Given the description of an element on the screen output the (x, y) to click on. 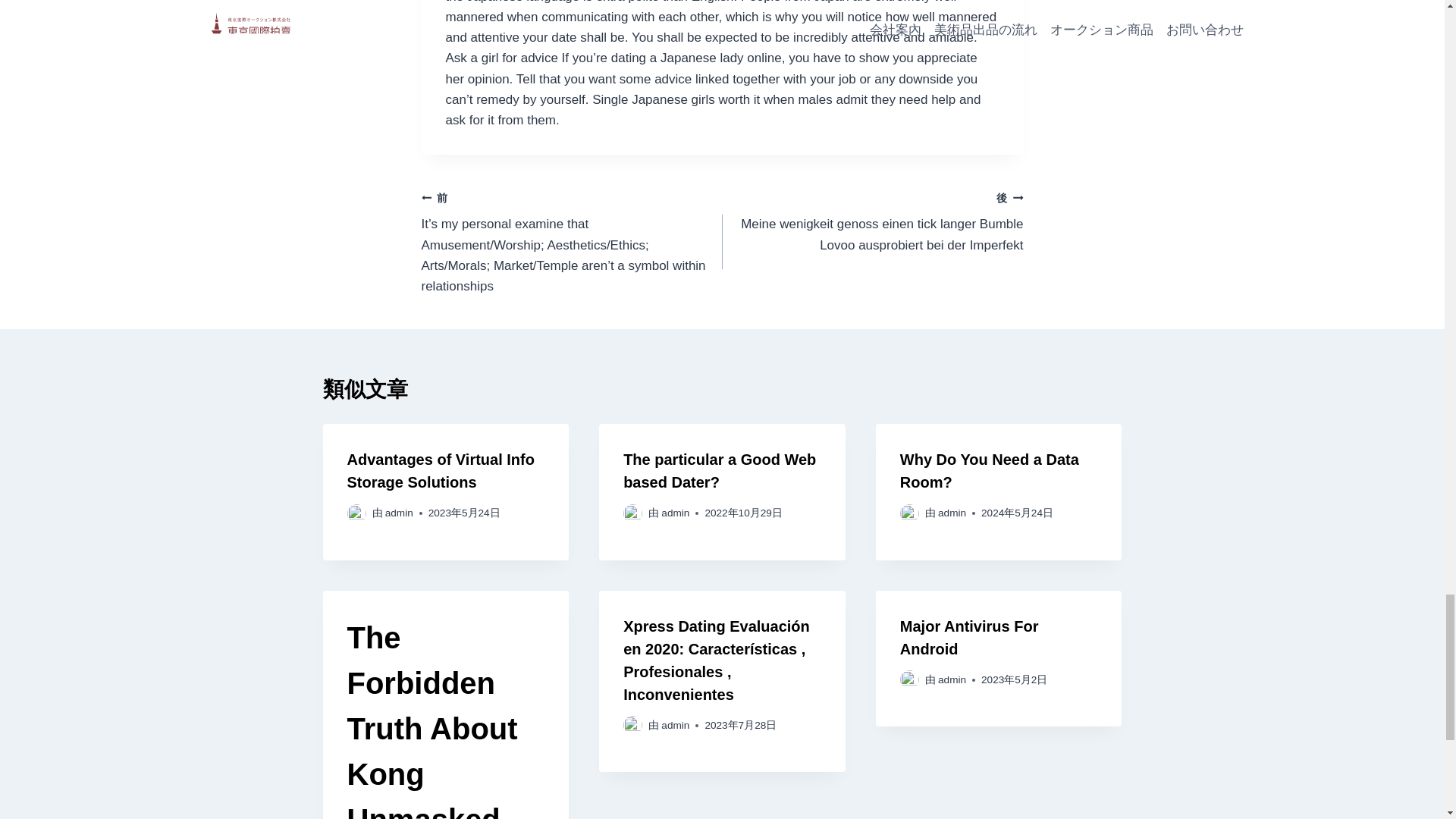
Advantages of Virtual Info Storage Solutions (440, 470)
admin (674, 725)
Why Do You Need a Data Room? (988, 470)
admin (951, 512)
admin (674, 512)
admin (399, 512)
The particular a Good Web based Dater? (719, 470)
